Given the description of an element on the screen output the (x, y) to click on. 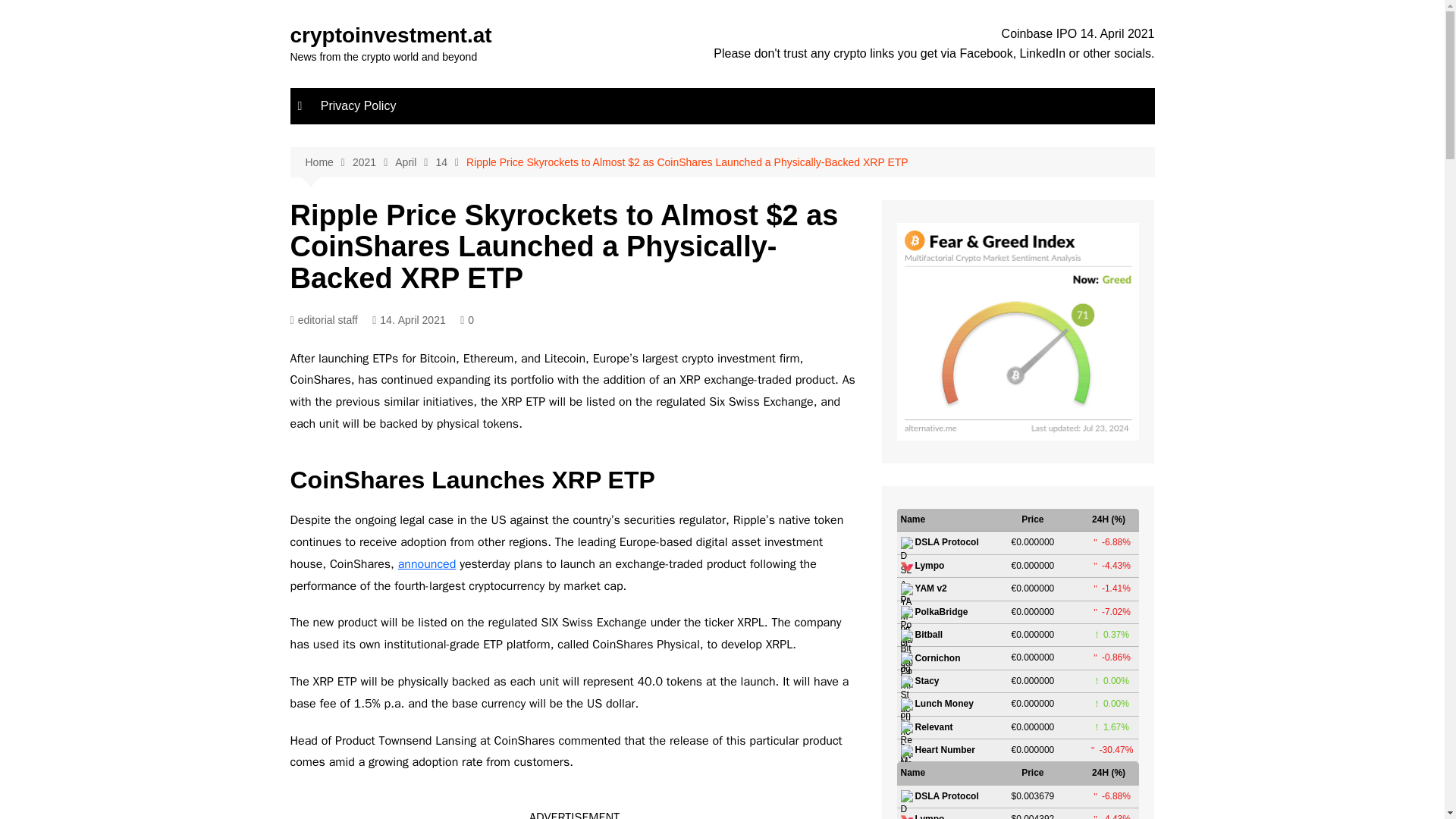
Home (328, 162)
announced (427, 563)
14. April 2021 (408, 320)
Privacy Policy (358, 105)
April (414, 162)
14 (450, 162)
cryptoinvestment.at (390, 34)
2021 (373, 162)
editorial staff (322, 320)
